Given the description of an element on the screen output the (x, y) to click on. 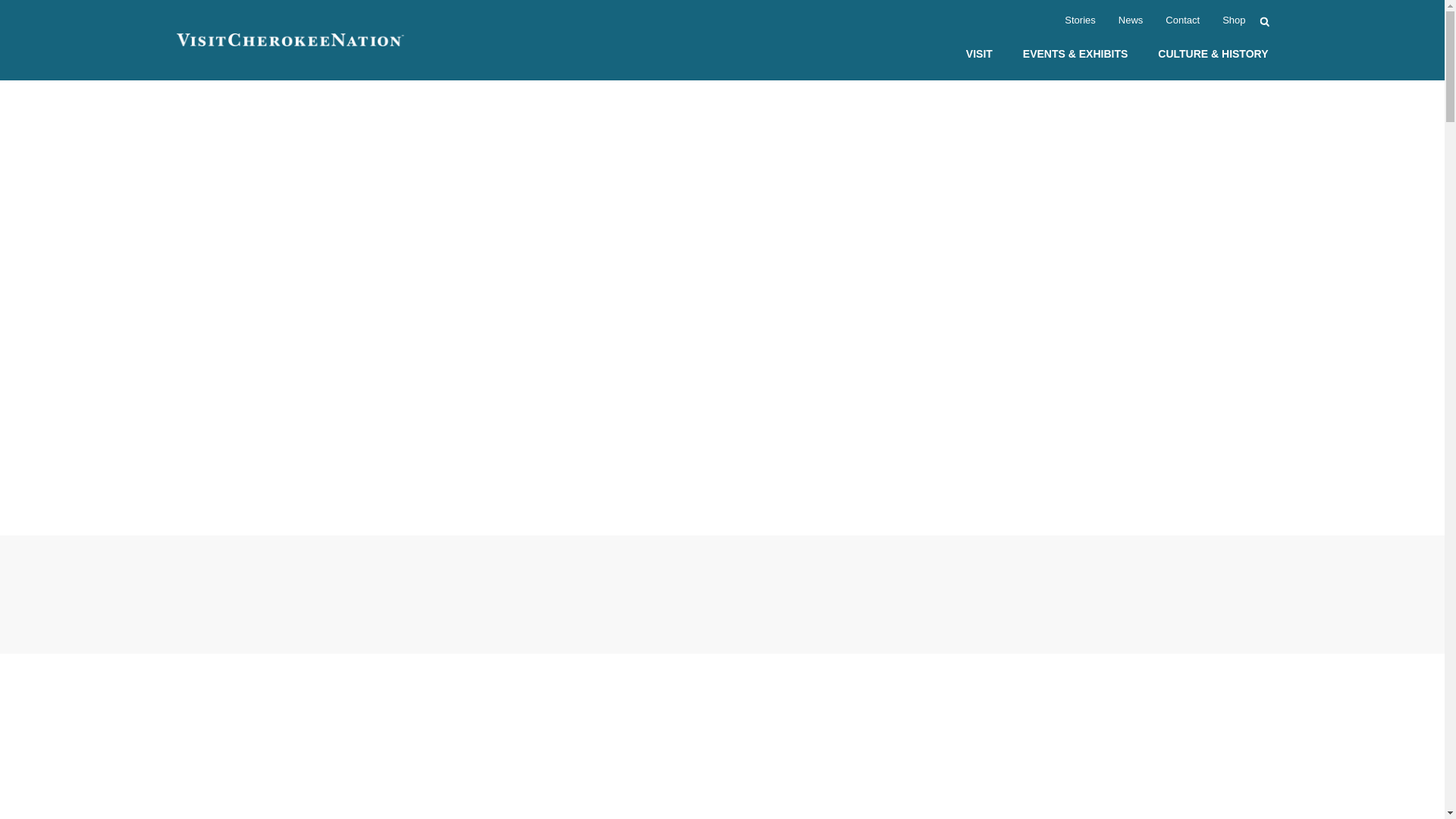
News (1130, 20)
Contact (1182, 20)
Stories (1079, 20)
Shop (1233, 20)
